Given the description of an element on the screen output the (x, y) to click on. 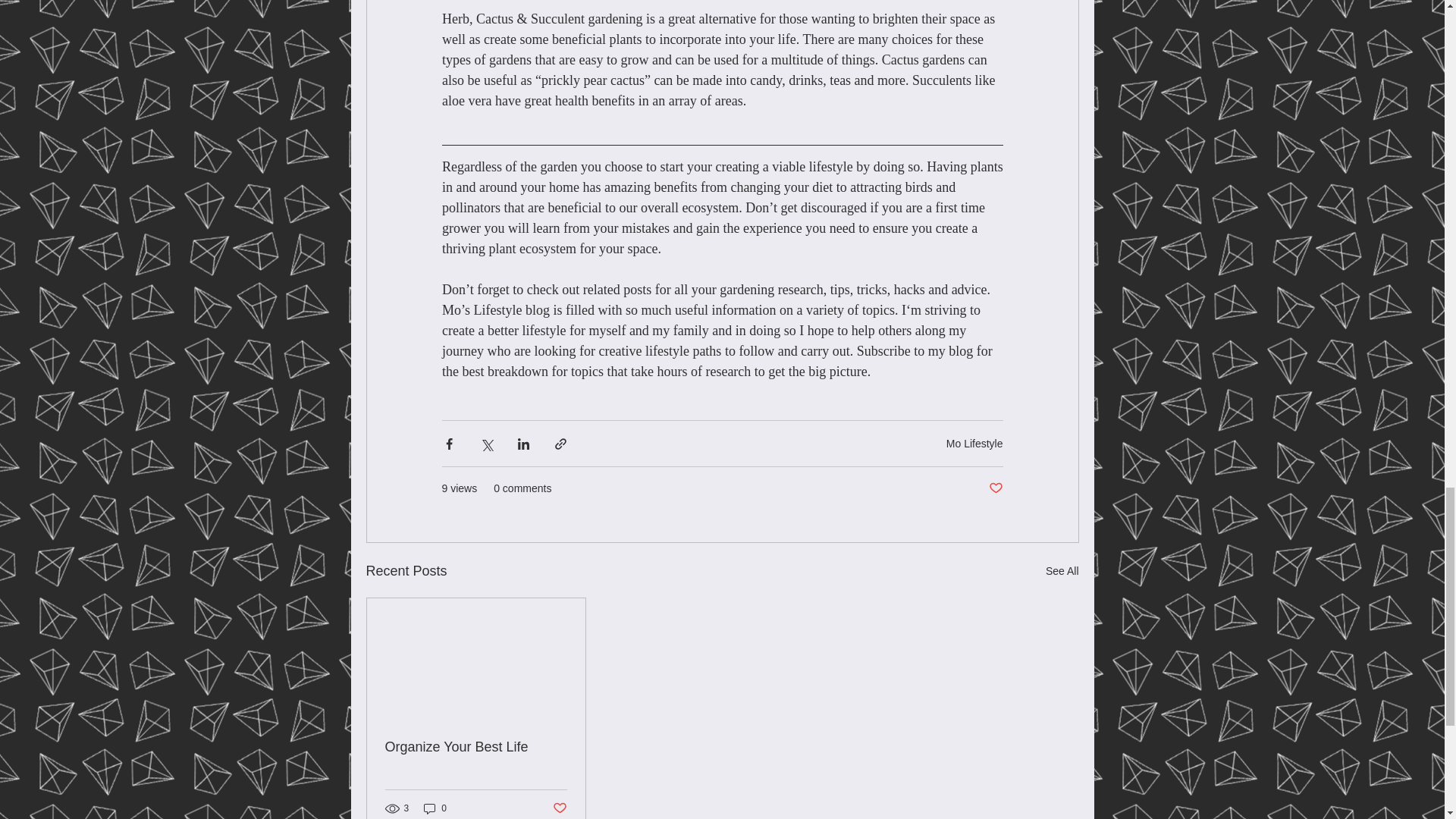
See All (1061, 571)
Post not marked as liked (558, 808)
Mo Lifestyle (974, 443)
Post not marked as liked (995, 488)
0 (435, 808)
Organize Your Best Life (476, 747)
